Given the description of an element on the screen output the (x, y) to click on. 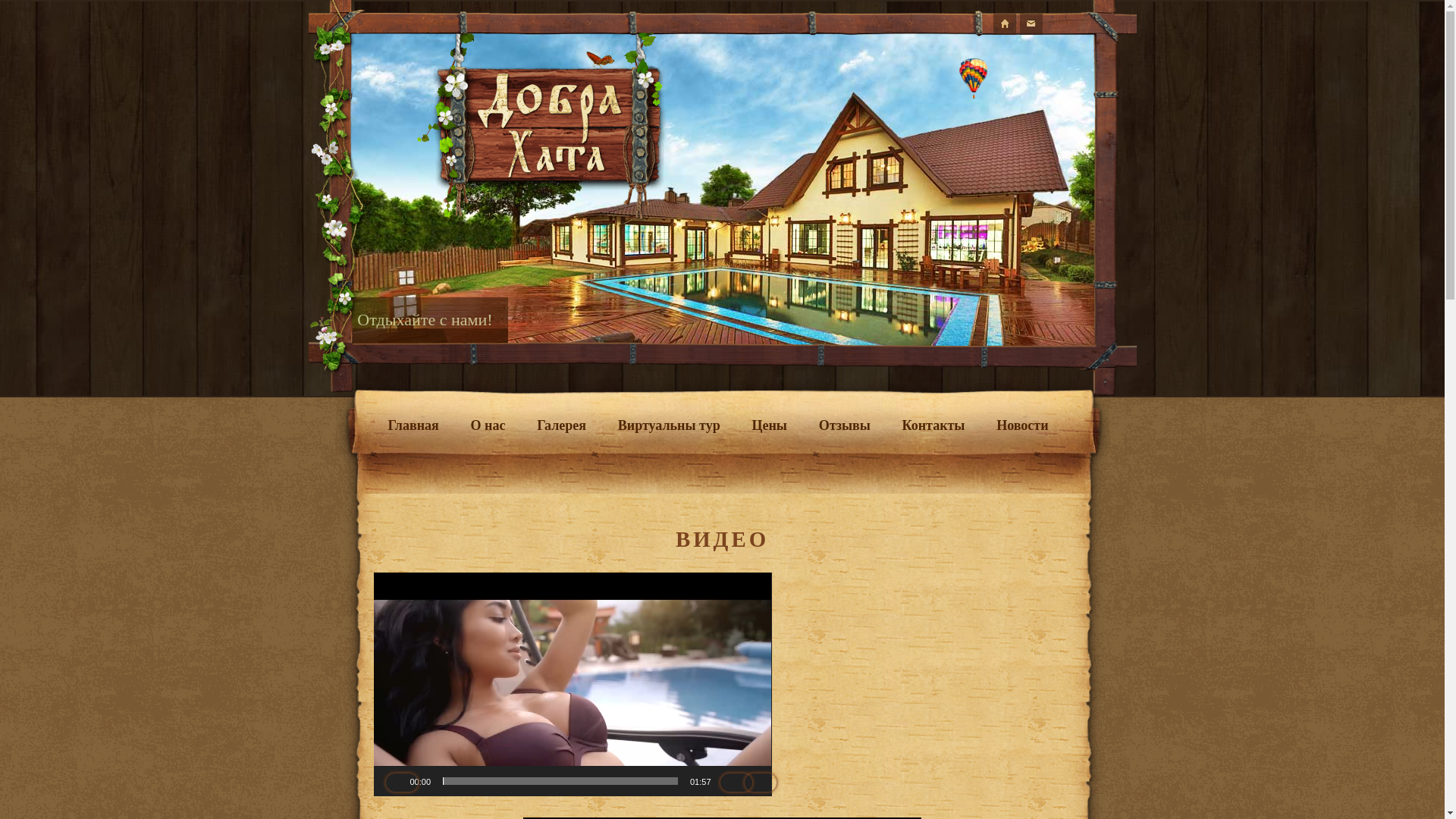
2 Element type: text (1021, 331)
Play Element type: text (1057, 23)
2 Element type: text (981, 331)
1 Element type: text (1001, 331)
4 Element type: text (1060, 331)
1 Element type: text (962, 331)
3 Element type: text (1041, 331)
